Given the description of an element on the screen output the (x, y) to click on. 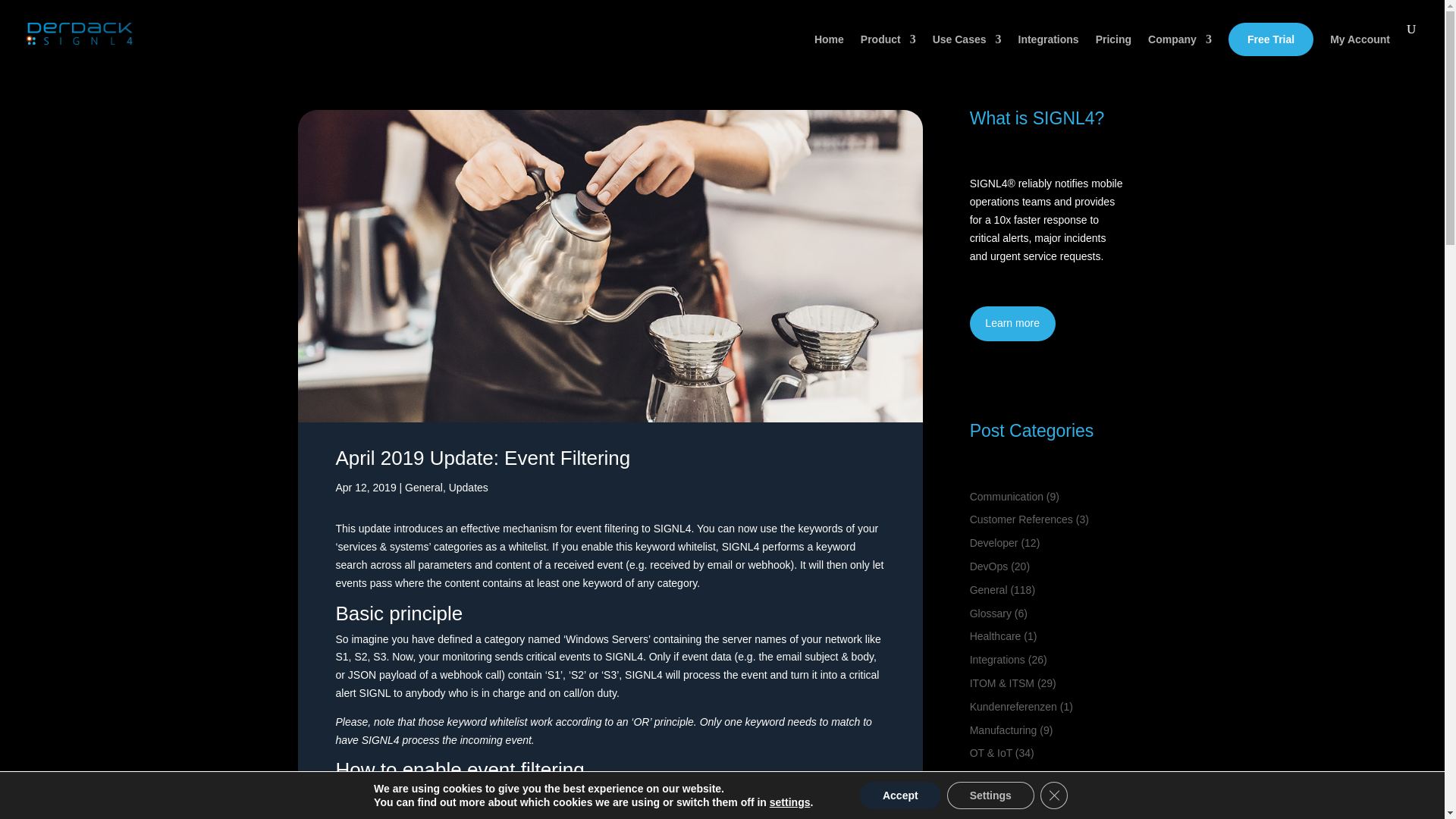
Company (1179, 50)
Free Trial (1270, 39)
My Account (1360, 50)
Pricing (1113, 50)
Integrations (1047, 50)
Product (887, 50)
Use Cases (967, 50)
